Given the description of an element on the screen output the (x, y) to click on. 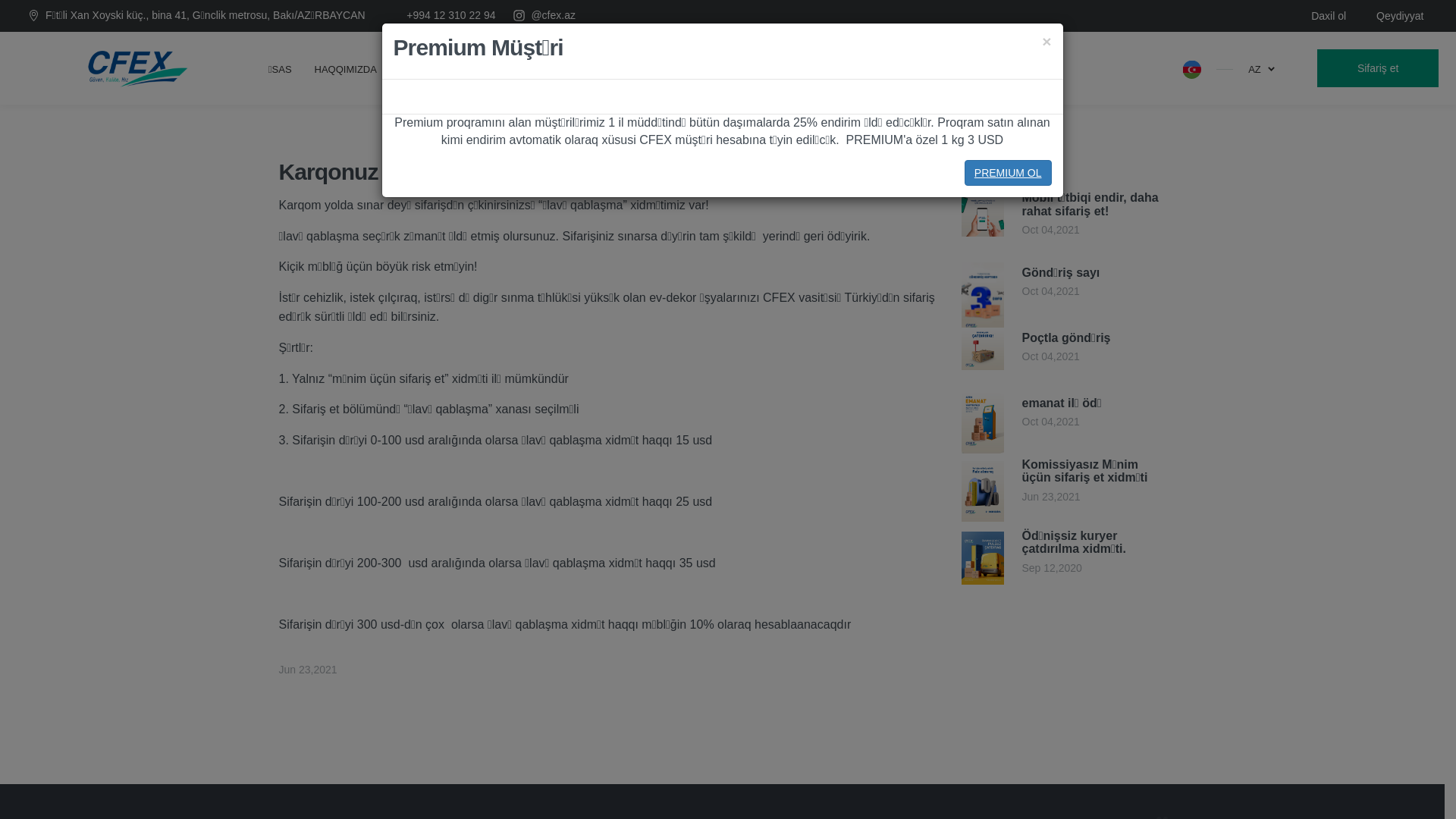
PREMIUM OL Element type: text (1007, 172)
HAQQIMIZDA Element type: text (345, 67)
  +994 12 310 22 94 Element type: text (448, 14)
Qeydiyyat Element type: text (1399, 15)
Daxil ol Element type: text (1328, 15)
@cfex.az Element type: text (552, 14)
FILIALLAR Element type: text (573, 67)
